Given the description of an element on the screen output the (x, y) to click on. 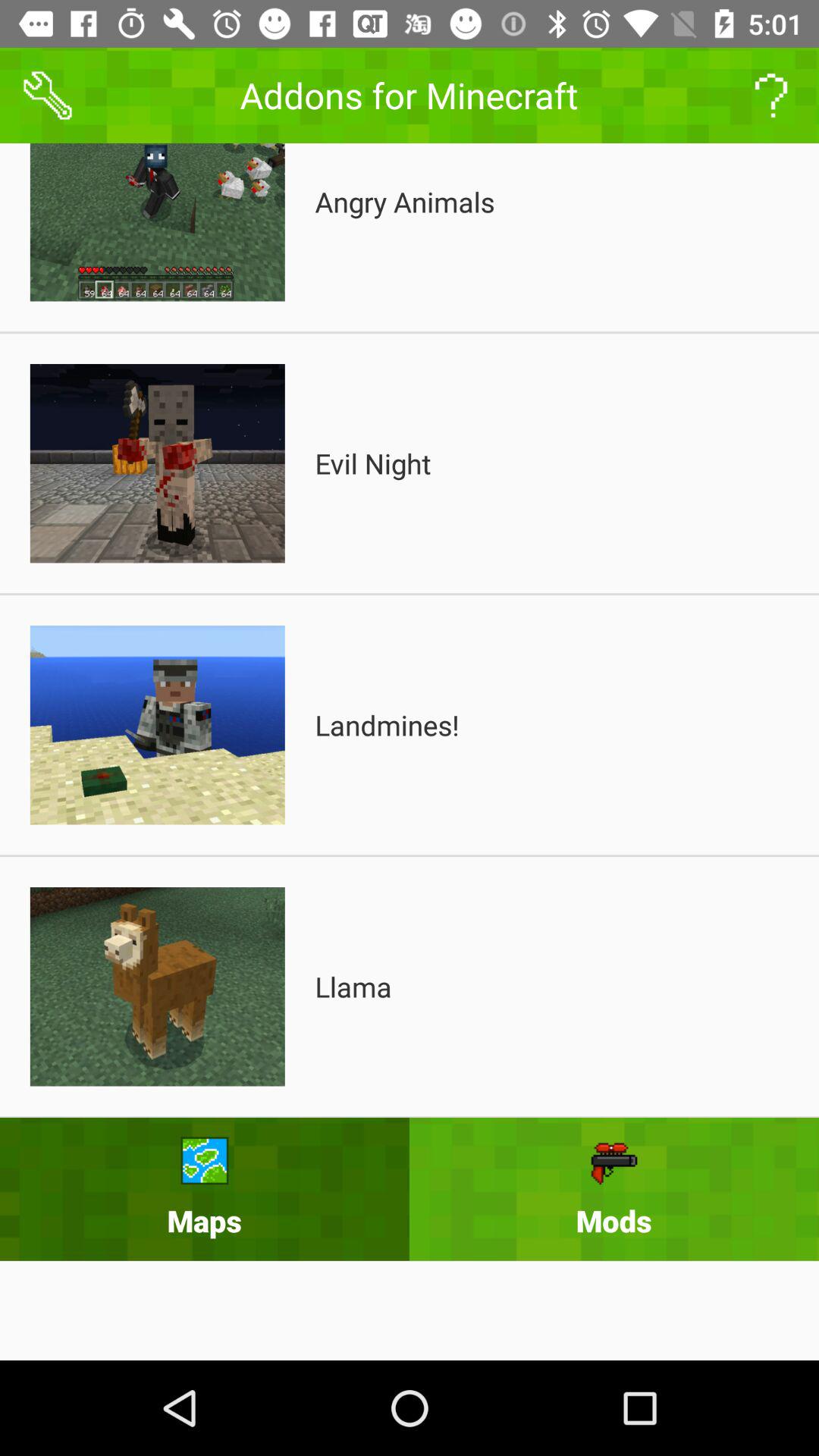
swipe to landmines! (387, 724)
